Given the description of an element on the screen output the (x, y) to click on. 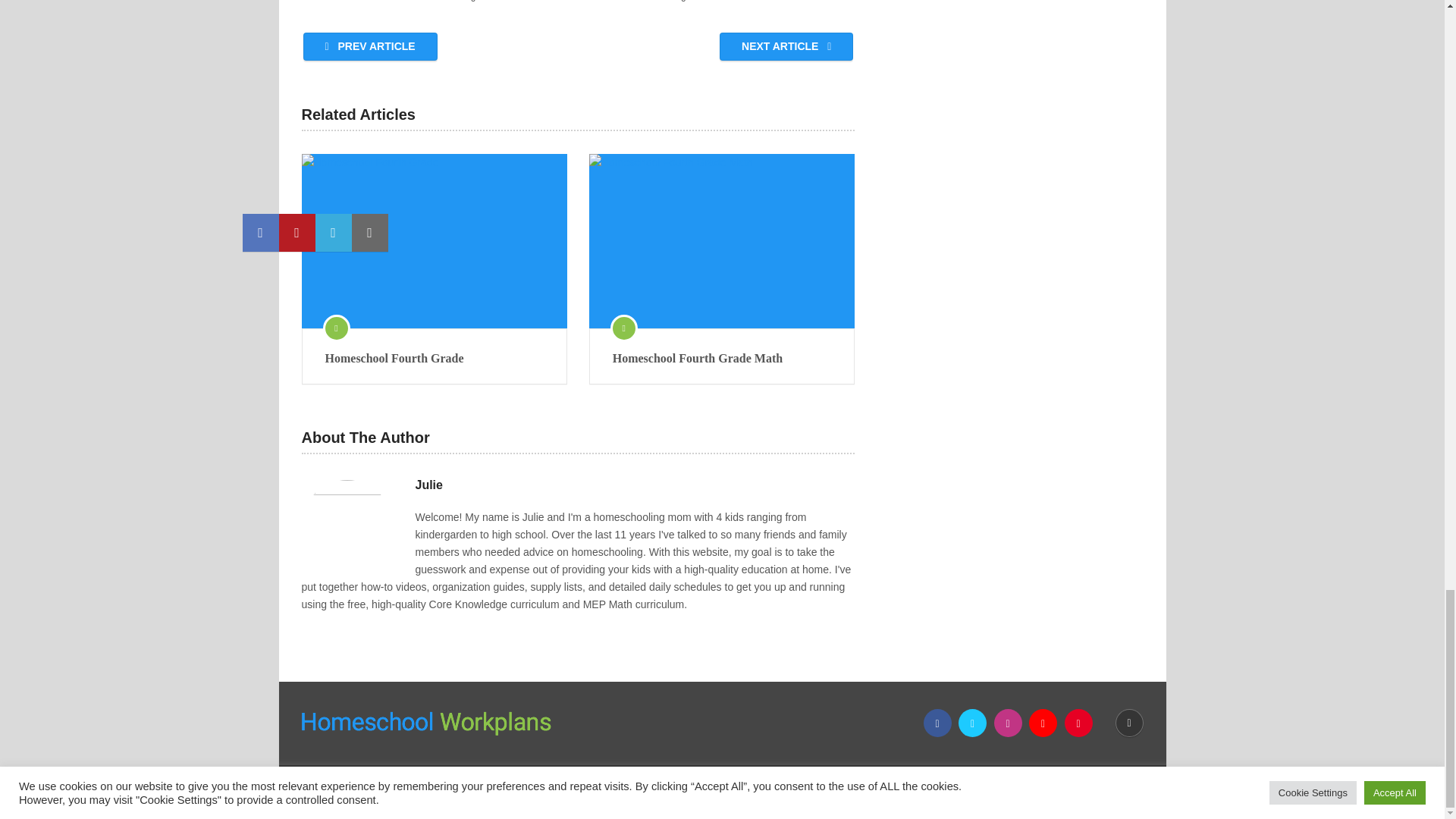
Homeschool Fourth Grade Math (721, 358)
Homeschool Fourth Grade (433, 358)
Homeschool Fourth Grade Math (721, 358)
NEXT ARTICLE (786, 46)
Homeschool Fourth Grade (434, 240)
Julie (428, 484)
Homeschool Fourth Grade (433, 358)
Homeschool Fourth Grade Math (721, 240)
PREV ARTICLE (370, 46)
